Given the description of an element on the screen output the (x, y) to click on. 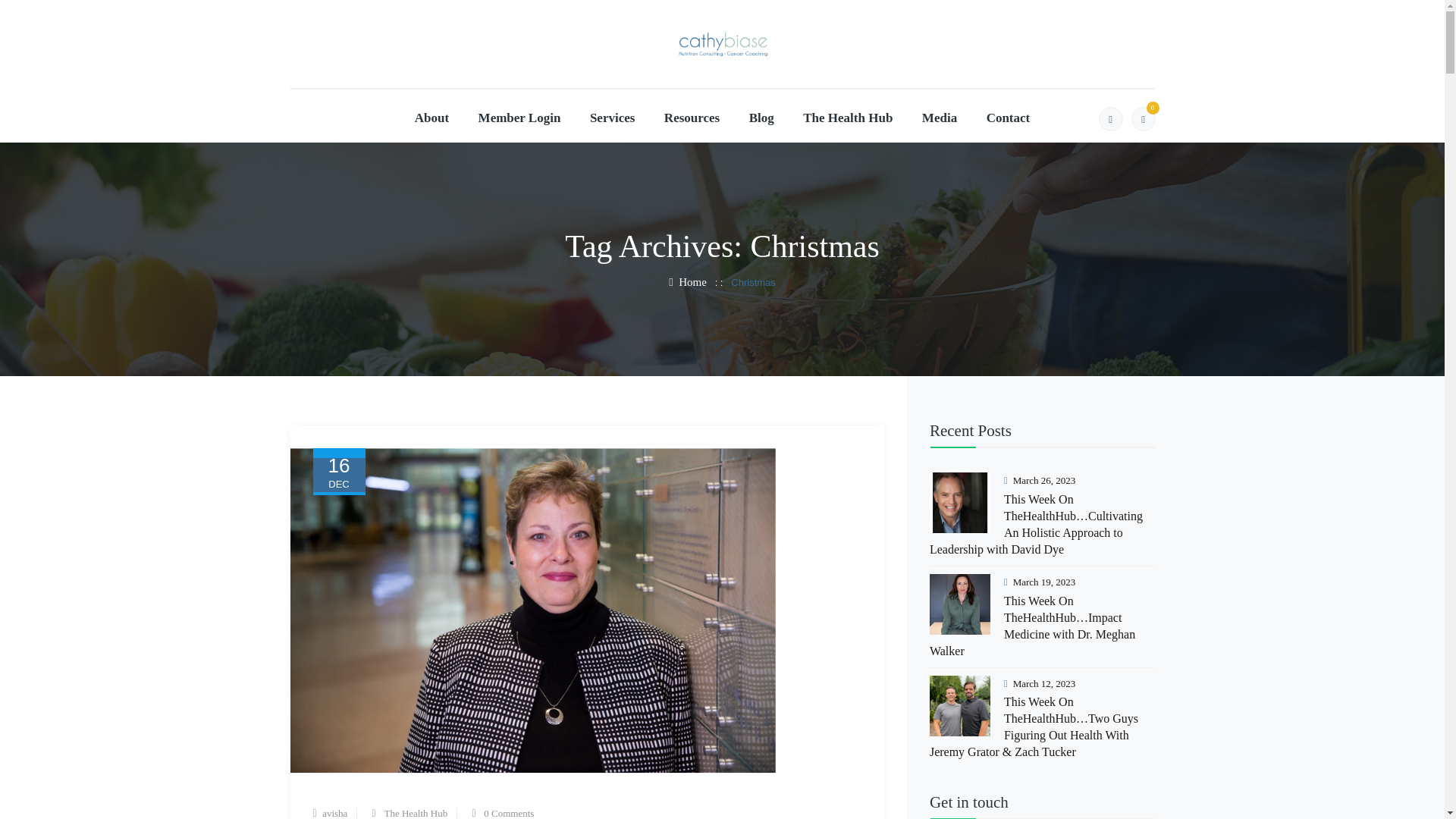
Contact (1008, 117)
avisha (334, 813)
Services (611, 117)
Go to Cathy Biase. (687, 282)
The Health Hub (847, 117)
The Health Hub (415, 813)
Media (938, 117)
About (431, 117)
0 (1143, 119)
0 Comments (508, 813)
  Home (687, 282)
Member Login (519, 117)
Blog (761, 117)
